Given the description of an element on the screen output the (x, y) to click on. 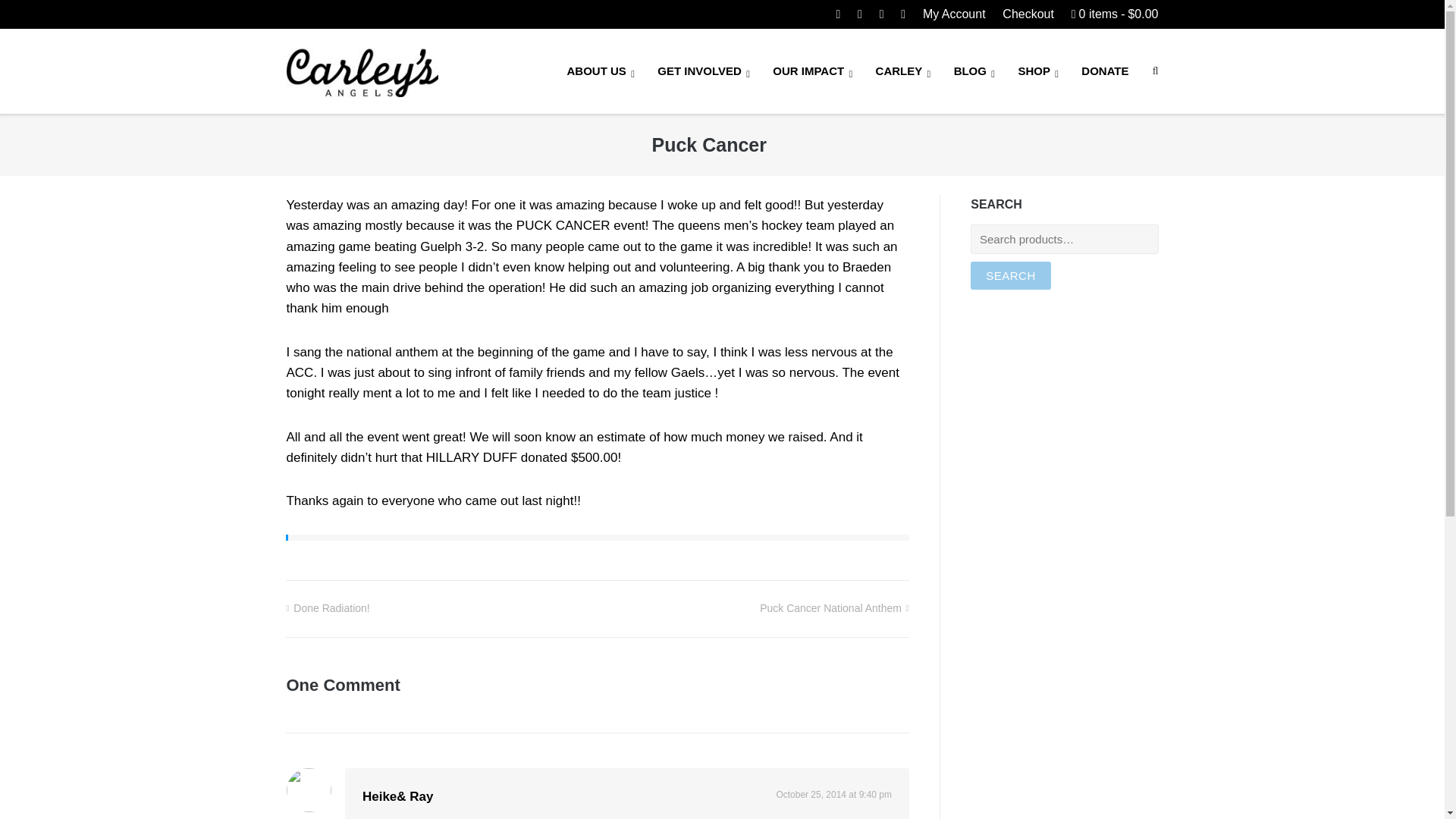
OUR IMPACT (812, 70)
GET INVOLVED (703, 70)
My Account (954, 14)
Start shopping (1114, 14)
Checkout (1028, 14)
